Given the description of an element on the screen output the (x, y) to click on. 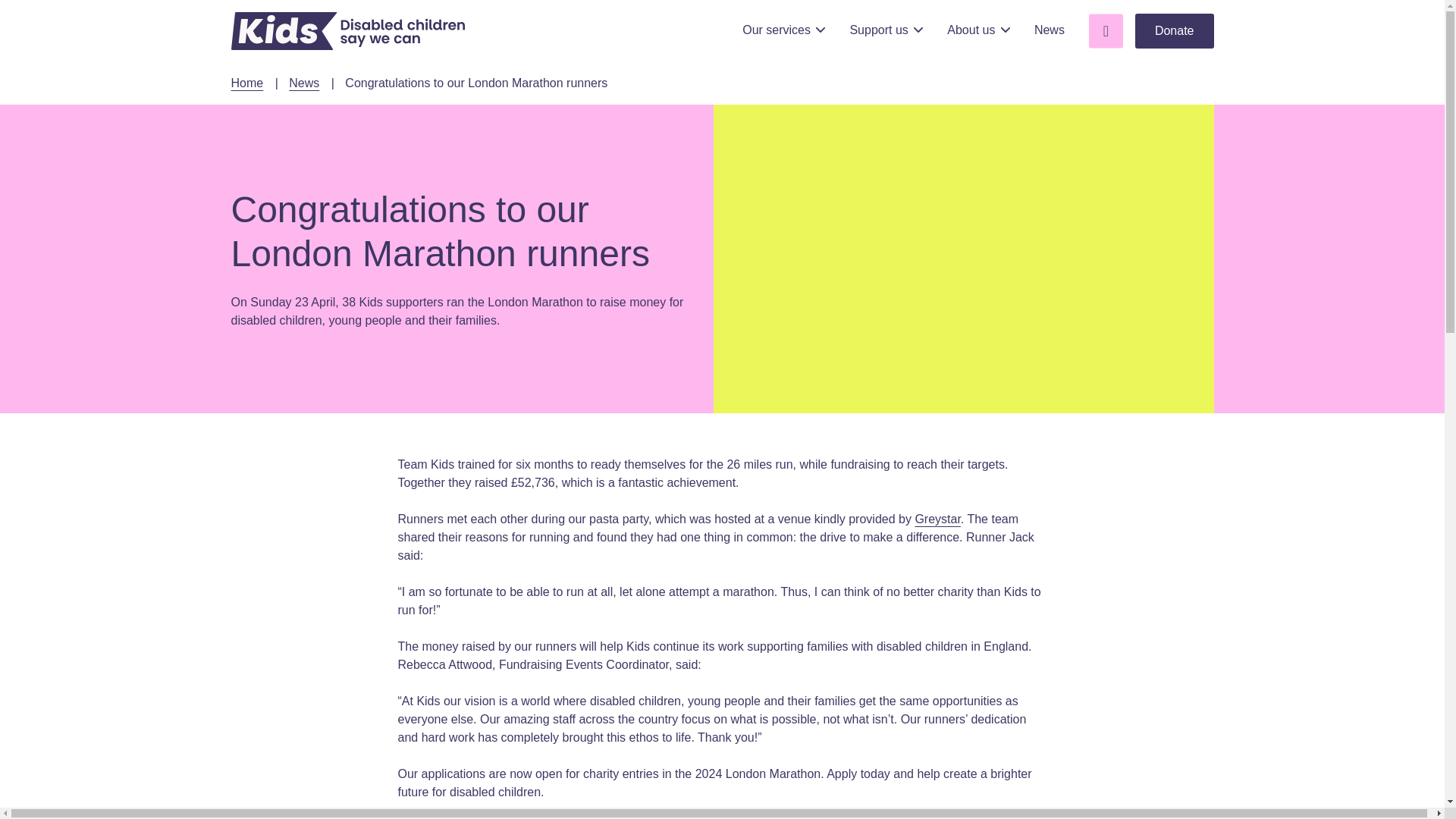
Our services (783, 30)
About us (978, 30)
Skip to content (187, 39)
Support us (885, 30)
